Given the description of an element on the screen output the (x, y) to click on. 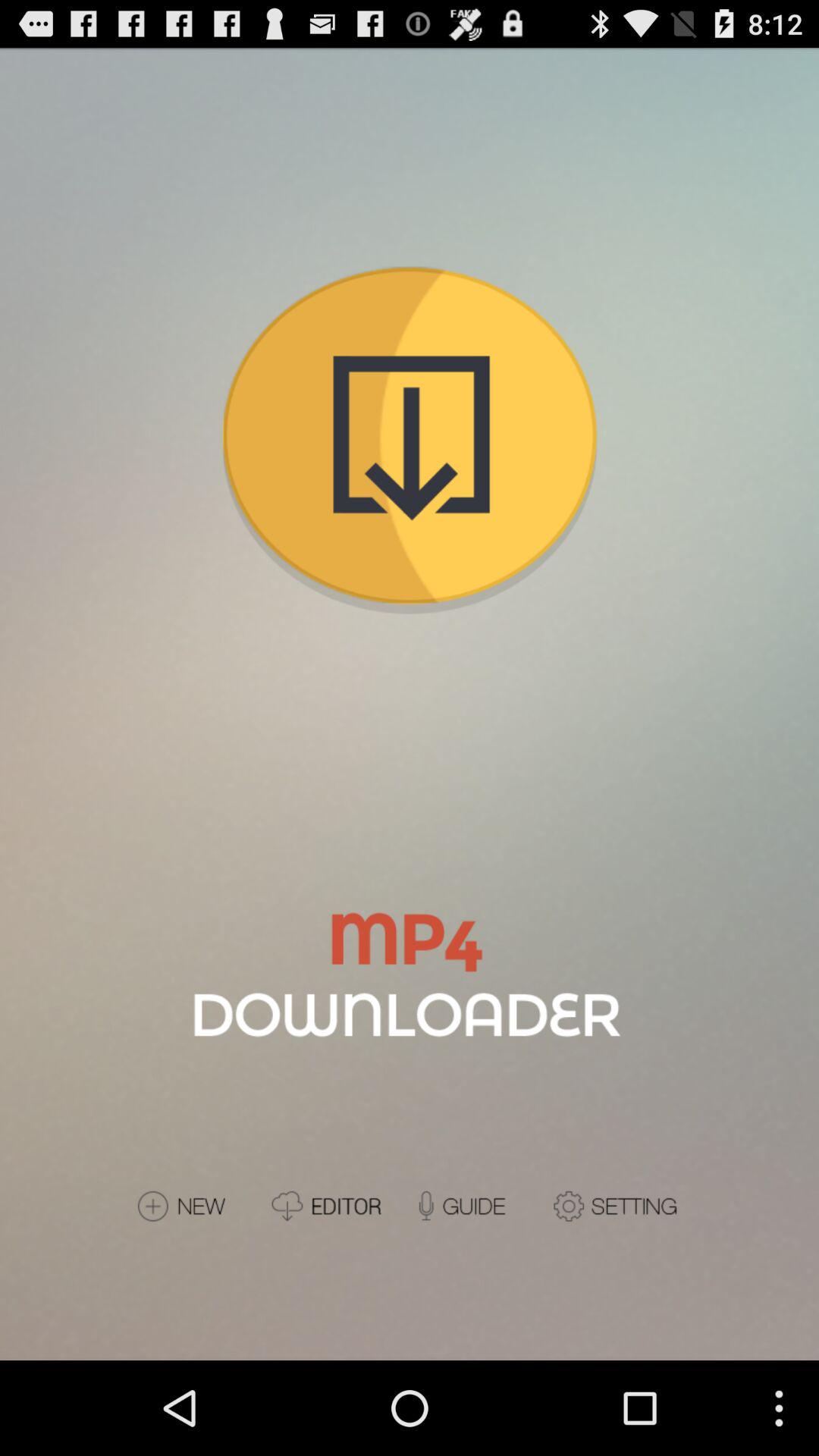
settings button (617, 1206)
